Given the description of an element on the screen output the (x, y) to click on. 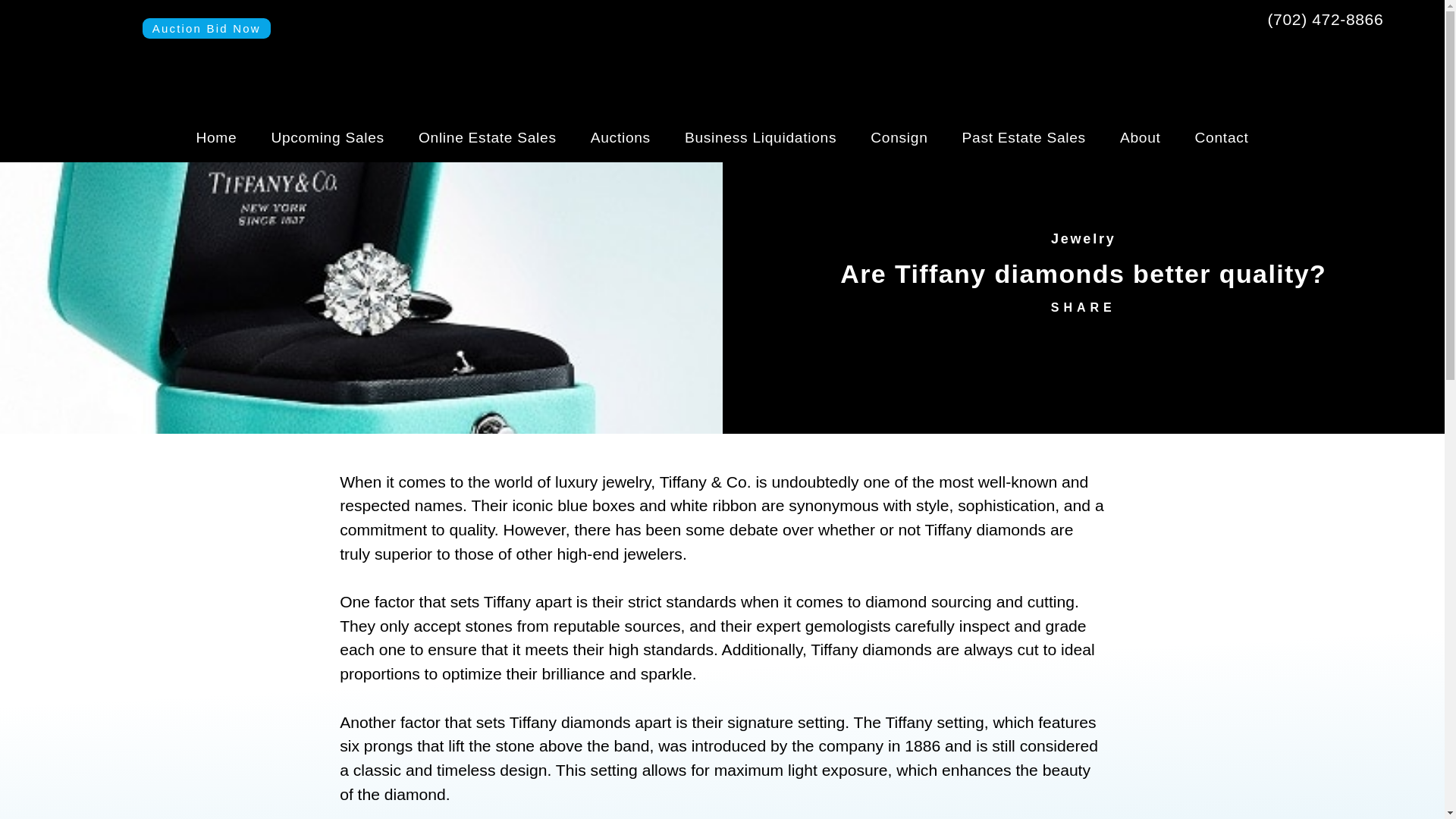
Contact (1221, 137)
Business Liquidations (760, 137)
Upcoming Sales (327, 137)
About (1140, 137)
Past Estate Sales (1023, 137)
Home (215, 137)
Online Estate Sales (487, 137)
Auctions (620, 137)
Consign (899, 137)
Auction Bid Now (206, 28)
